Given the description of an element on the screen output the (x, y) to click on. 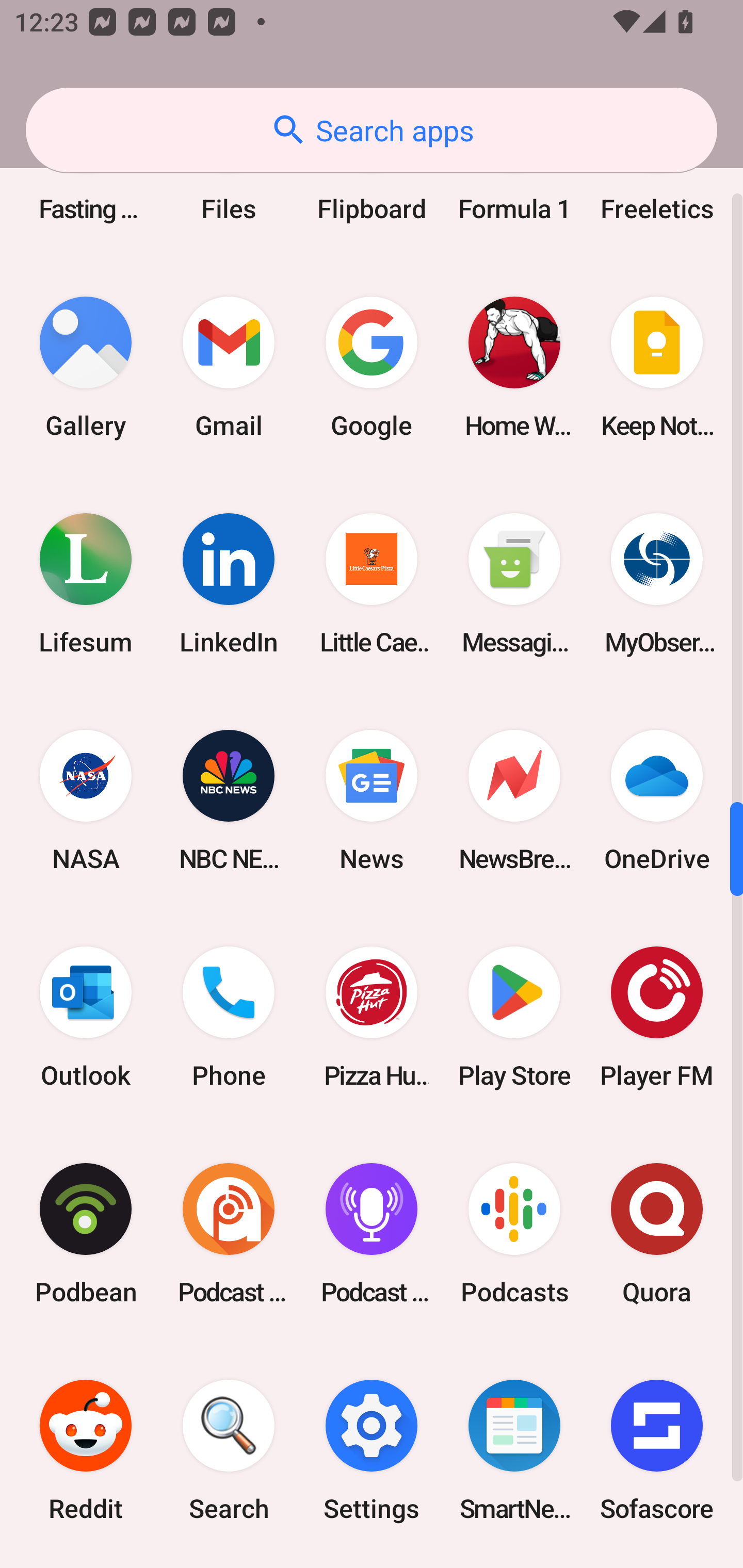
  Search apps (371, 130)
Gallery (85, 366)
Gmail (228, 366)
Google (371, 366)
Home Workout (514, 366)
Keep Notes (656, 366)
Lifesum (85, 583)
LinkedIn (228, 583)
Little Caesars Pizza (371, 583)
Messaging (514, 583)
MyObservatory (656, 583)
NASA (85, 800)
NBC NEWS (228, 800)
News (371, 800)
NewsBreak (514, 800)
OneDrive (656, 800)
Outlook (85, 1017)
Phone (228, 1017)
Pizza Hut HK & Macau (371, 1017)
Play Store (514, 1017)
Player FM (656, 1017)
Podbean (85, 1233)
Podcast Addict (228, 1233)
Podcast Player (371, 1233)
Podcasts (514, 1233)
Quora (656, 1233)
Reddit (85, 1450)
Search (228, 1450)
Settings (371, 1450)
SmartNews (514, 1450)
Sofascore (656, 1450)
